Given the description of an element on the screen output the (x, y) to click on. 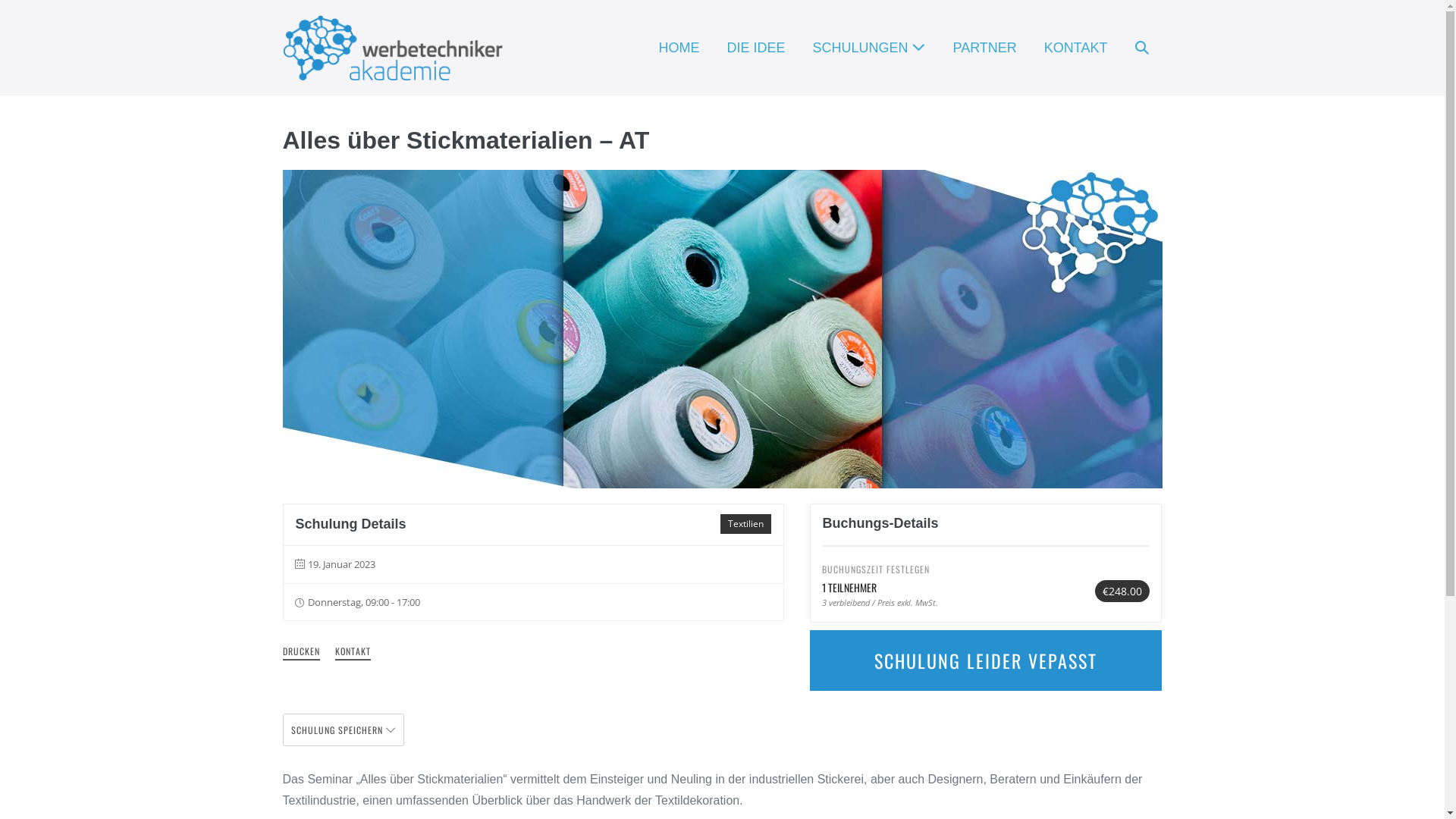
KONTAKT Element type: text (1075, 47)
PARTNER Element type: text (983, 47)
DIE IDEE Element type: text (755, 47)
Textilien Element type: text (745, 523)
DRUCKEN Element type: text (300, 651)
SCHULUNG LEIDER VEPASST Element type: text (985, 660)
werbetechniker-akademie.cc Element type: hover (392, 47)
SUCHE-SCHALTER Element type: text (1140, 47)
KONTAKT Element type: text (352, 651)
SCHULUNGEN Element type: text (868, 47)
HOME Element type: text (678, 47)
